Given the description of an element on the screen output the (x, y) to click on. 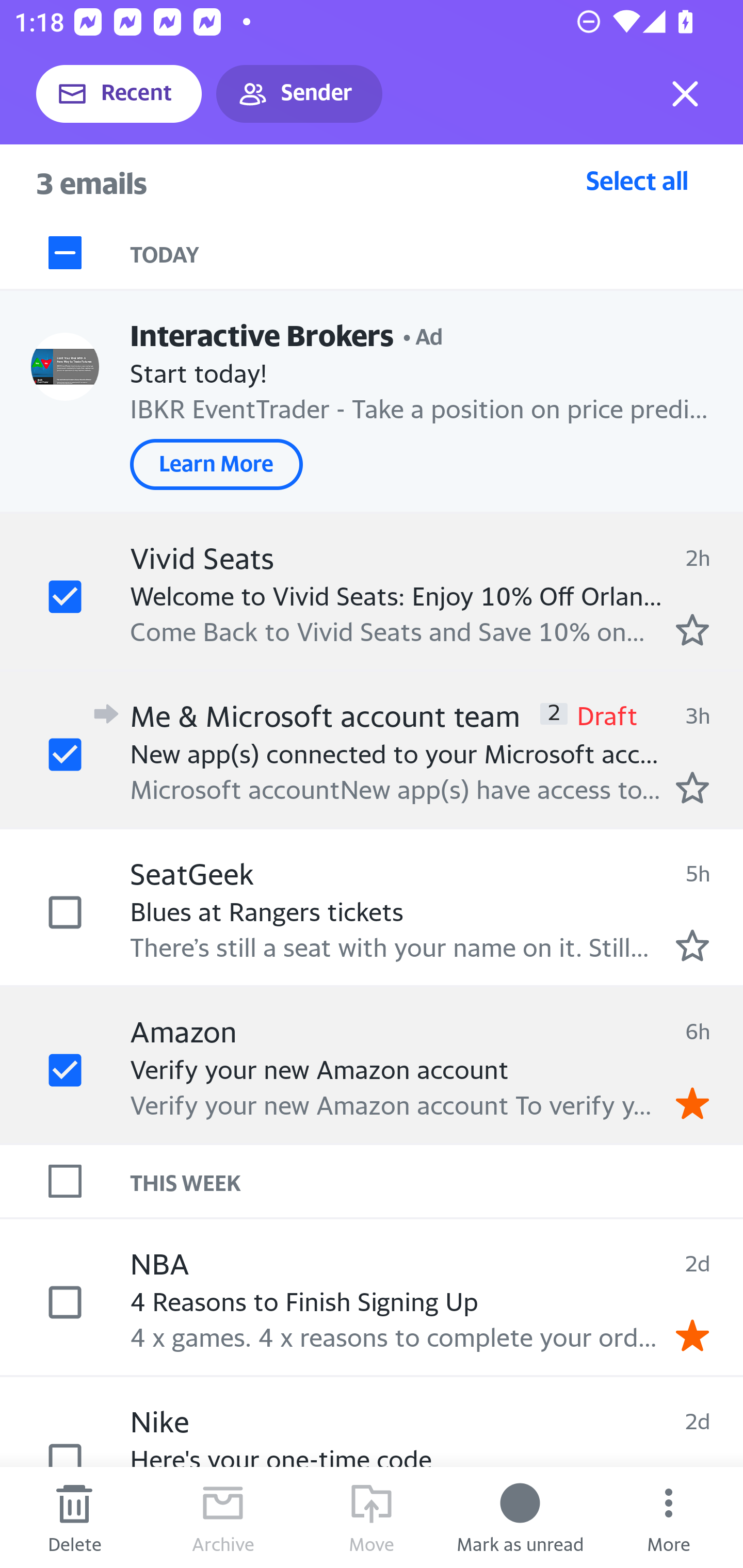
Sender (299, 93)
Exit selection mode (684, 93)
Select all (637, 180)
TODAY (436, 252)
Mark as starred. (692, 629)
Mark as starred. (692, 787)
Mark as starred. (692, 944)
Remove star. (692, 1103)
THIS WEEK (436, 1181)
Remove star. (692, 1335)
Delete (74, 1517)
Archive (222, 1517)
Move (371, 1517)
Mark as unread (519, 1517)
More (668, 1517)
